Given the description of an element on the screen output the (x, y) to click on. 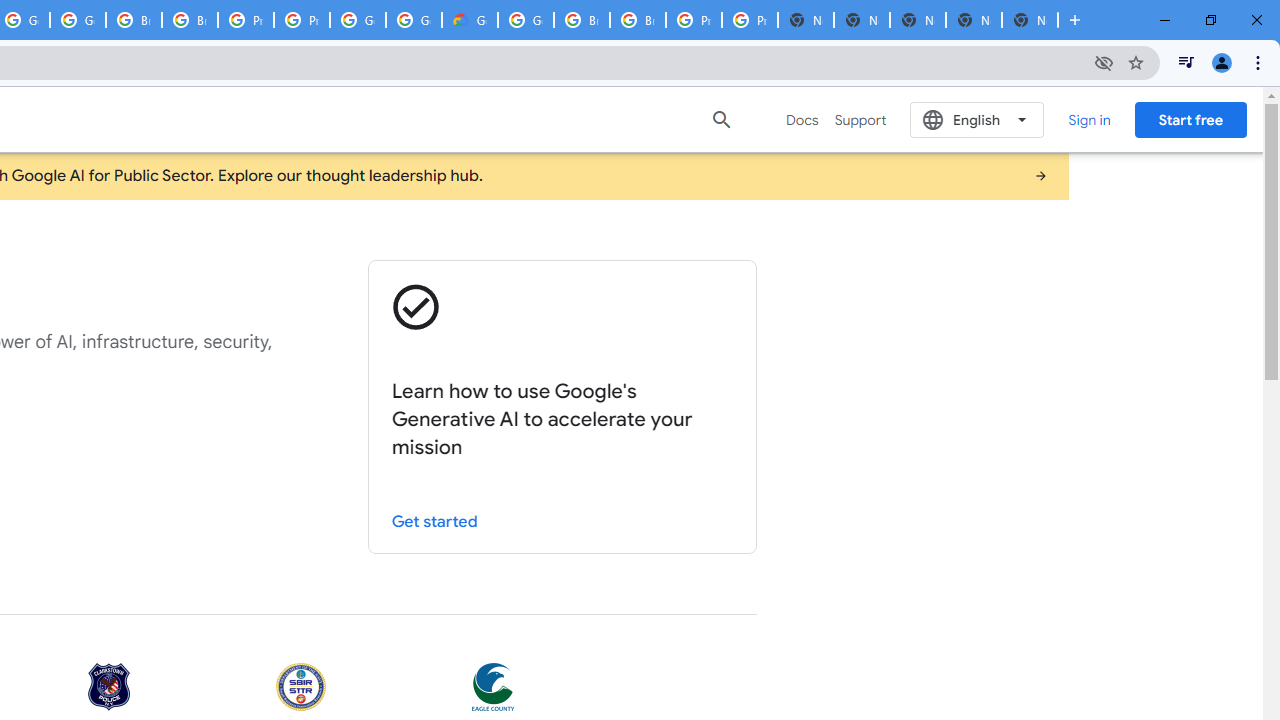
Eagle County (493, 687)
Google Cloud Platform (358, 20)
Google Cloud Platform (413, 20)
Google Cloud Estimate Summary (469, 20)
Support (860, 119)
Browse Chrome as a guest - Computer - Google Chrome Help (582, 20)
New Tab (1030, 20)
Start free (1190, 119)
